Given the description of an element on the screen output the (x, y) to click on. 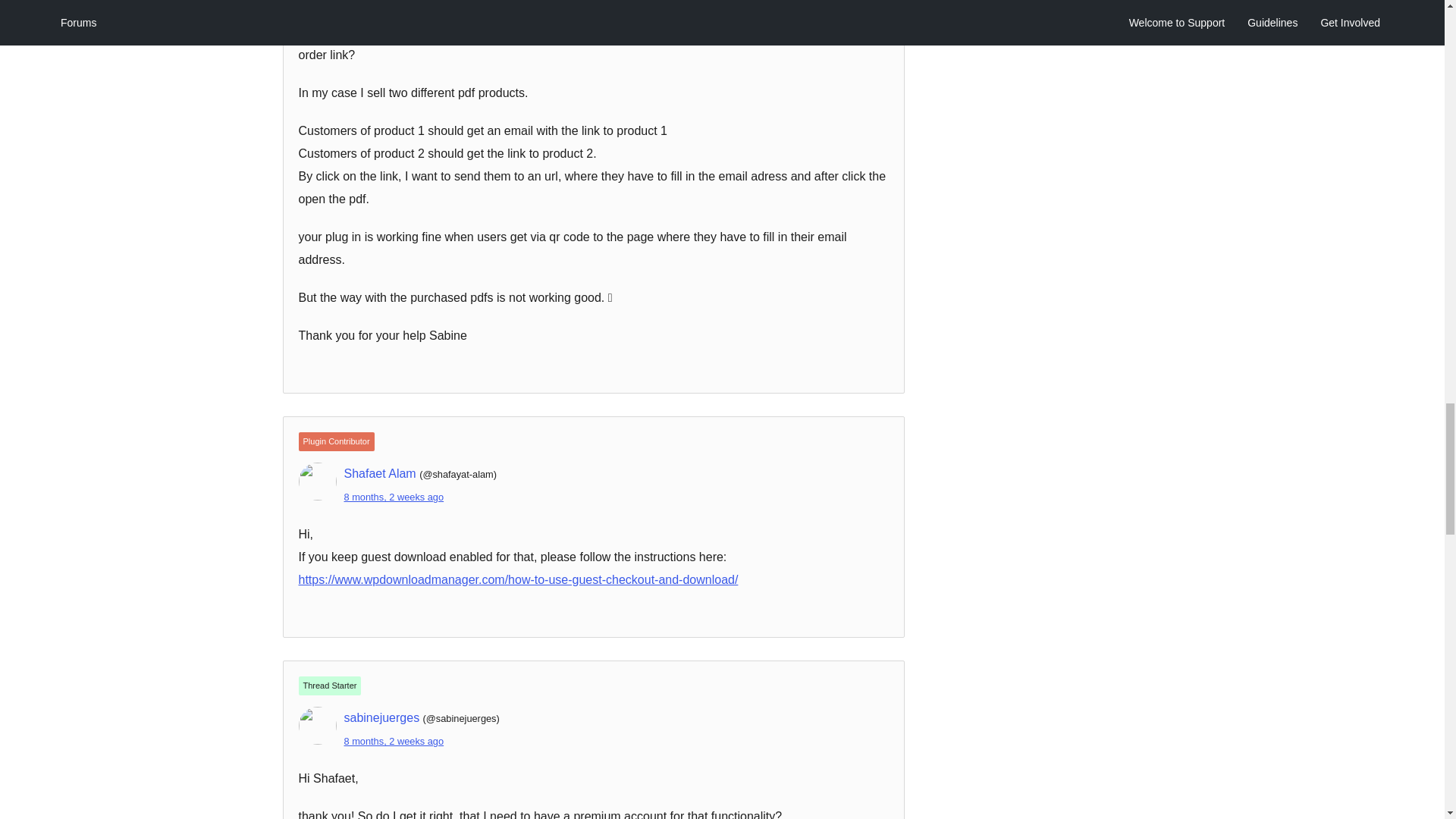
This person is a contributor to this plugin (336, 441)
View Shafaet Alam's profile (379, 472)
November 8, 2023 at 6:28 pm (393, 740)
View sabinejuerges's profile (381, 717)
This person created the thread (329, 685)
November 8, 2023 at 4:05 pm (393, 496)
